Given the description of an element on the screen output the (x, y) to click on. 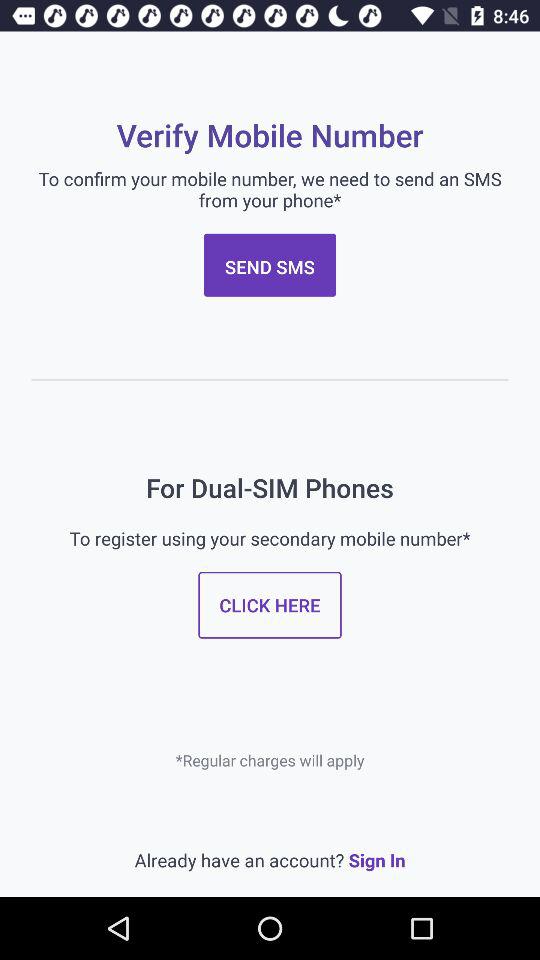
swipe until already have an icon (270, 859)
